Given the description of an element on the screen output the (x, y) to click on. 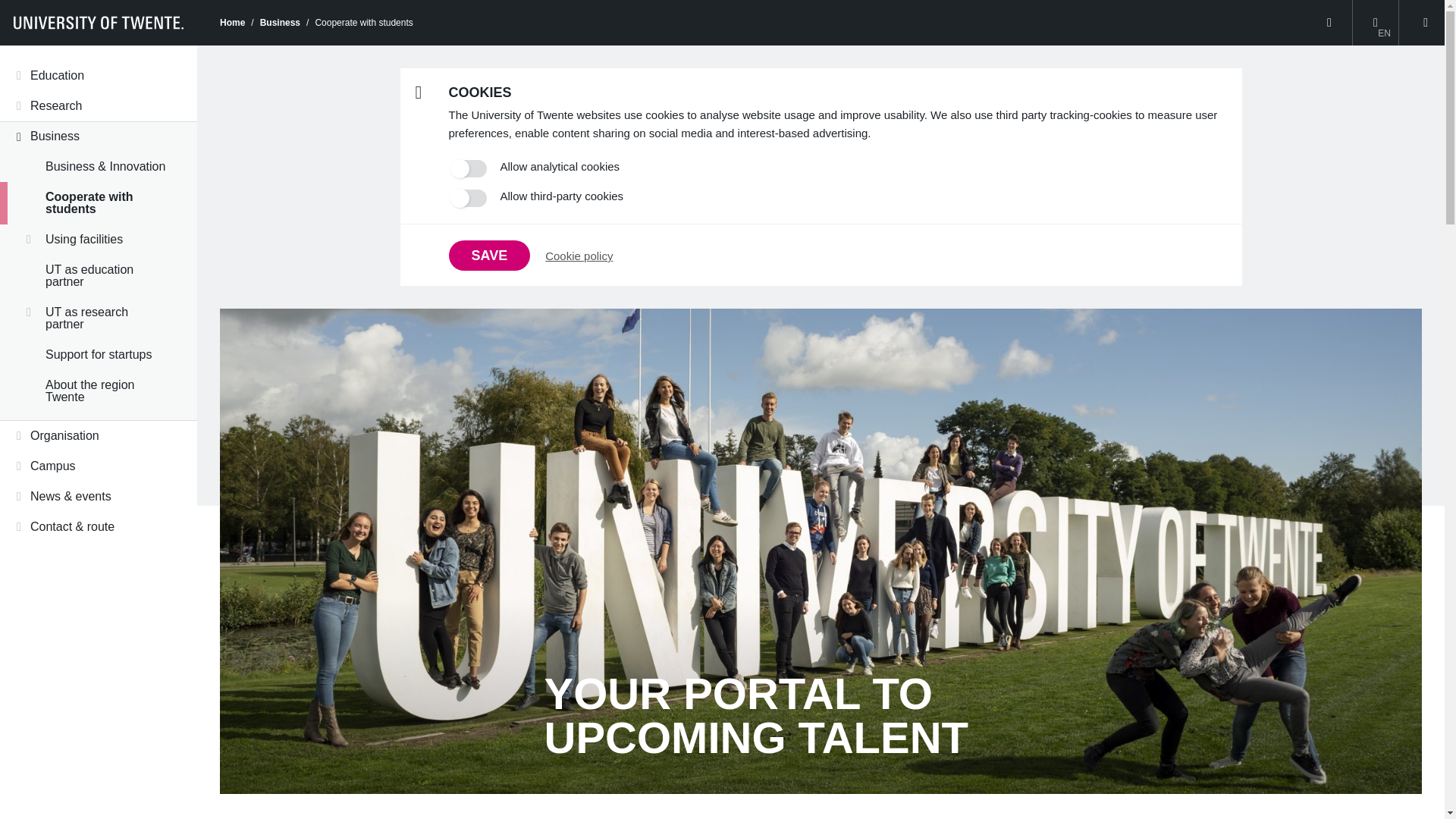
Campus (98, 466)
on (468, 198)
Support for startups (98, 354)
Cooperate with students (98, 202)
SAVE (489, 255)
on (468, 168)
Business (98, 136)
Home (231, 22)
Cookie policy (578, 254)
Research (98, 105)
